Given the description of an element on the screen output the (x, y) to click on. 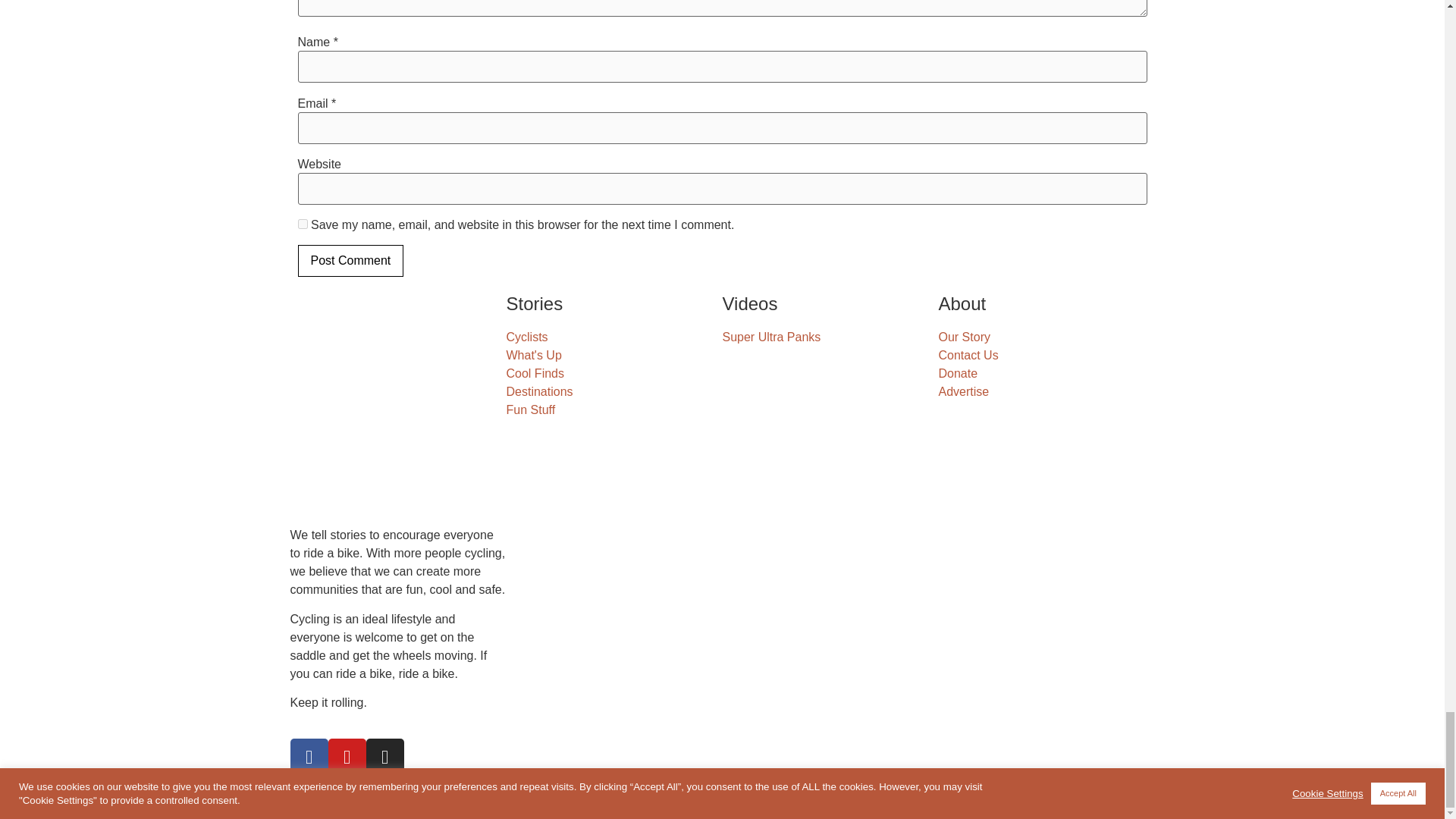
Cyclists (614, 337)
yes (302, 224)
Post Comment (350, 260)
Post Comment (350, 260)
